Given the description of an element on the screen output the (x, y) to click on. 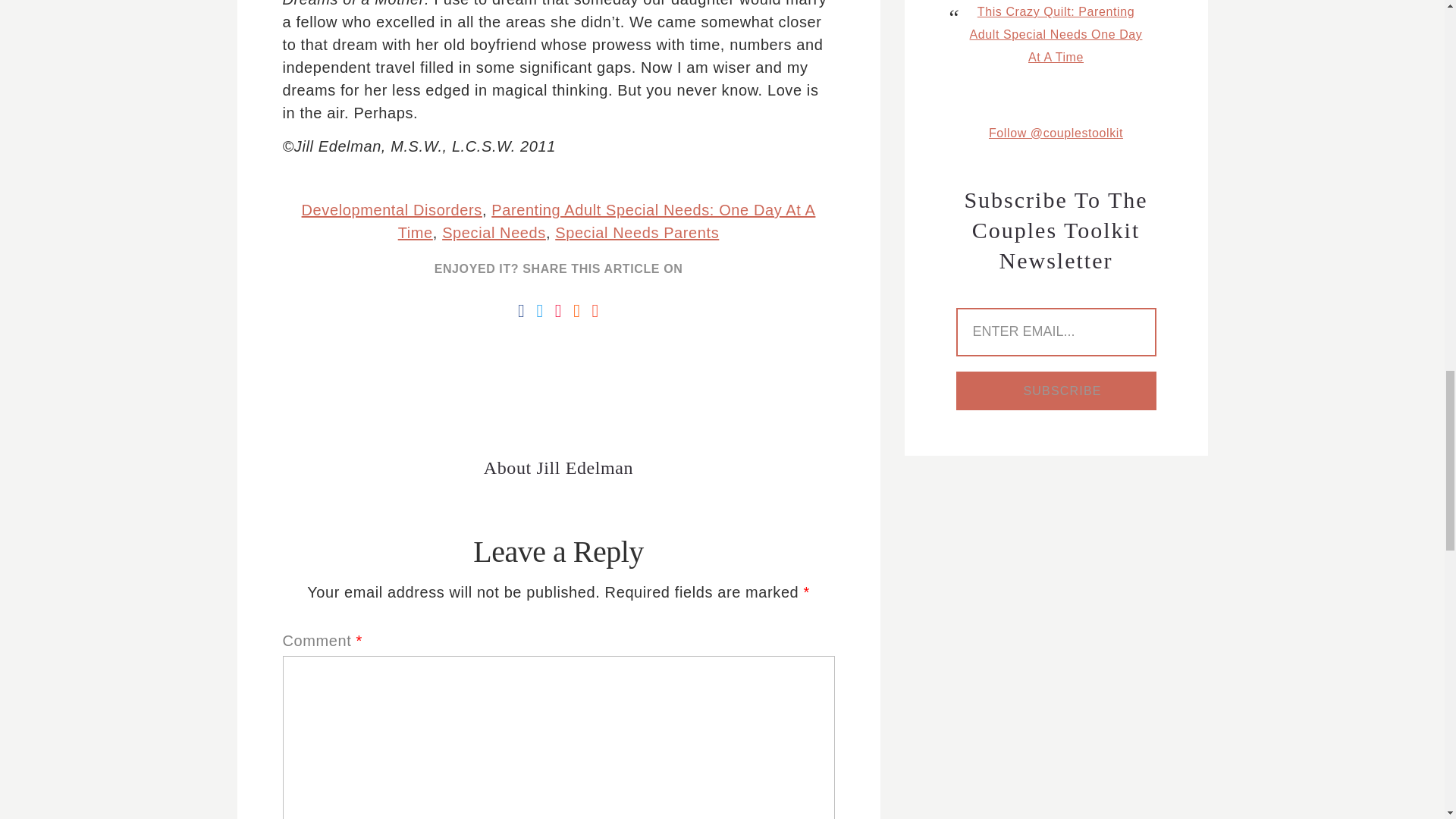
Subscribe (1055, 390)
Parenting Adult Special Needs: One Day At A Time (606, 220)
Developmental Disorders (391, 209)
Special Needs (494, 232)
Special Needs Parents (636, 232)
